Given the description of an element on the screen output the (x, y) to click on. 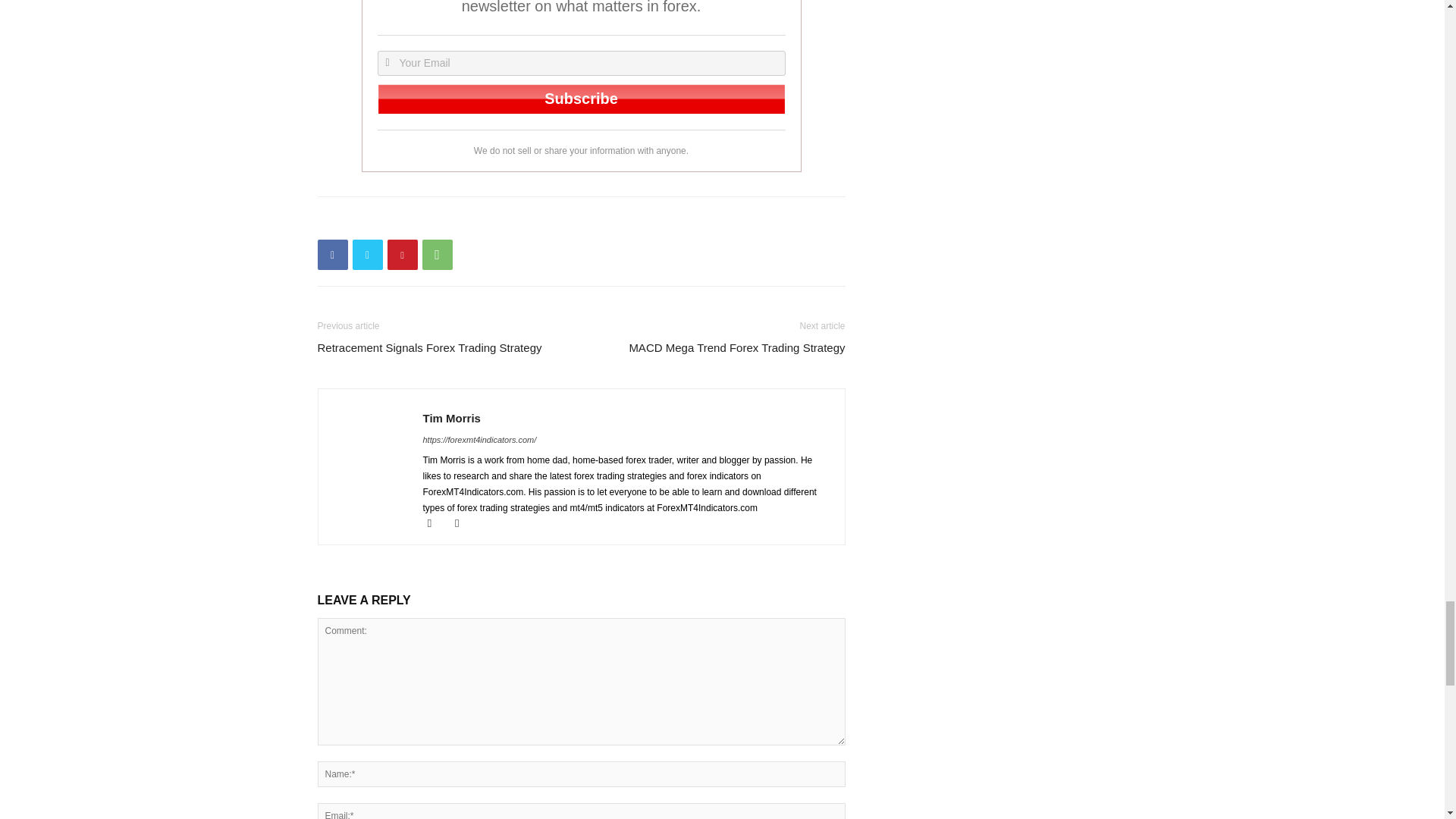
Subscribe (581, 98)
